Given the description of an element on the screen output the (x, y) to click on. 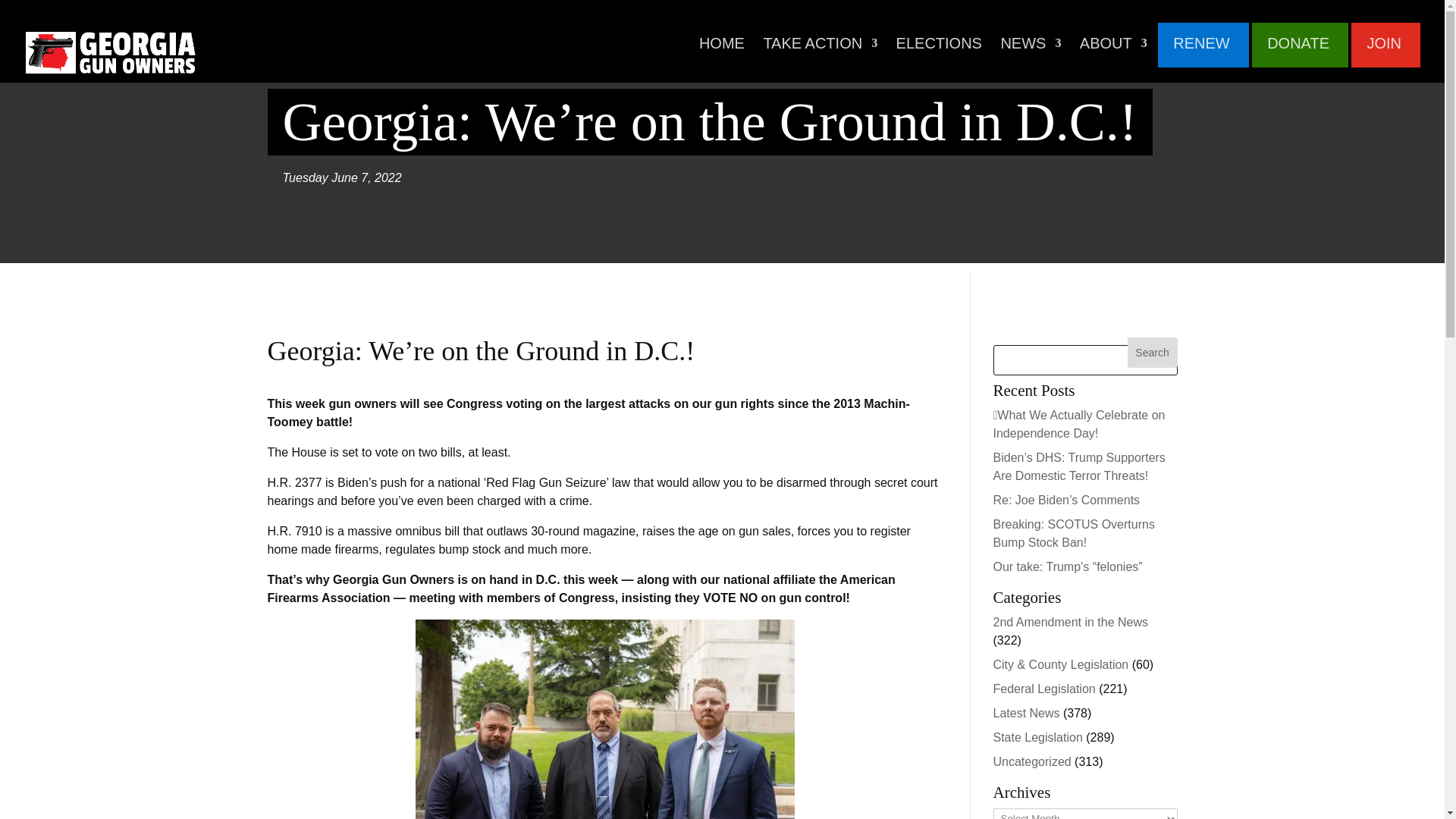
ABOUT (1113, 52)
DONATE (1297, 52)
2nd Amendment in the News (1070, 621)
JOIN (1383, 52)
HOME (721, 52)
TAKE ACTION (819, 52)
Latest News (1025, 712)
ELECTIONS (938, 52)
Breaking: SCOTUS Overturns Bump Stock Ban! (1073, 532)
RENEW (1200, 52)
NEWS (1030, 52)
Search (1151, 352)
Search (1151, 352)
State Legislation (1037, 737)
Uncategorized (1031, 761)
